Given the description of an element on the screen output the (x, y) to click on. 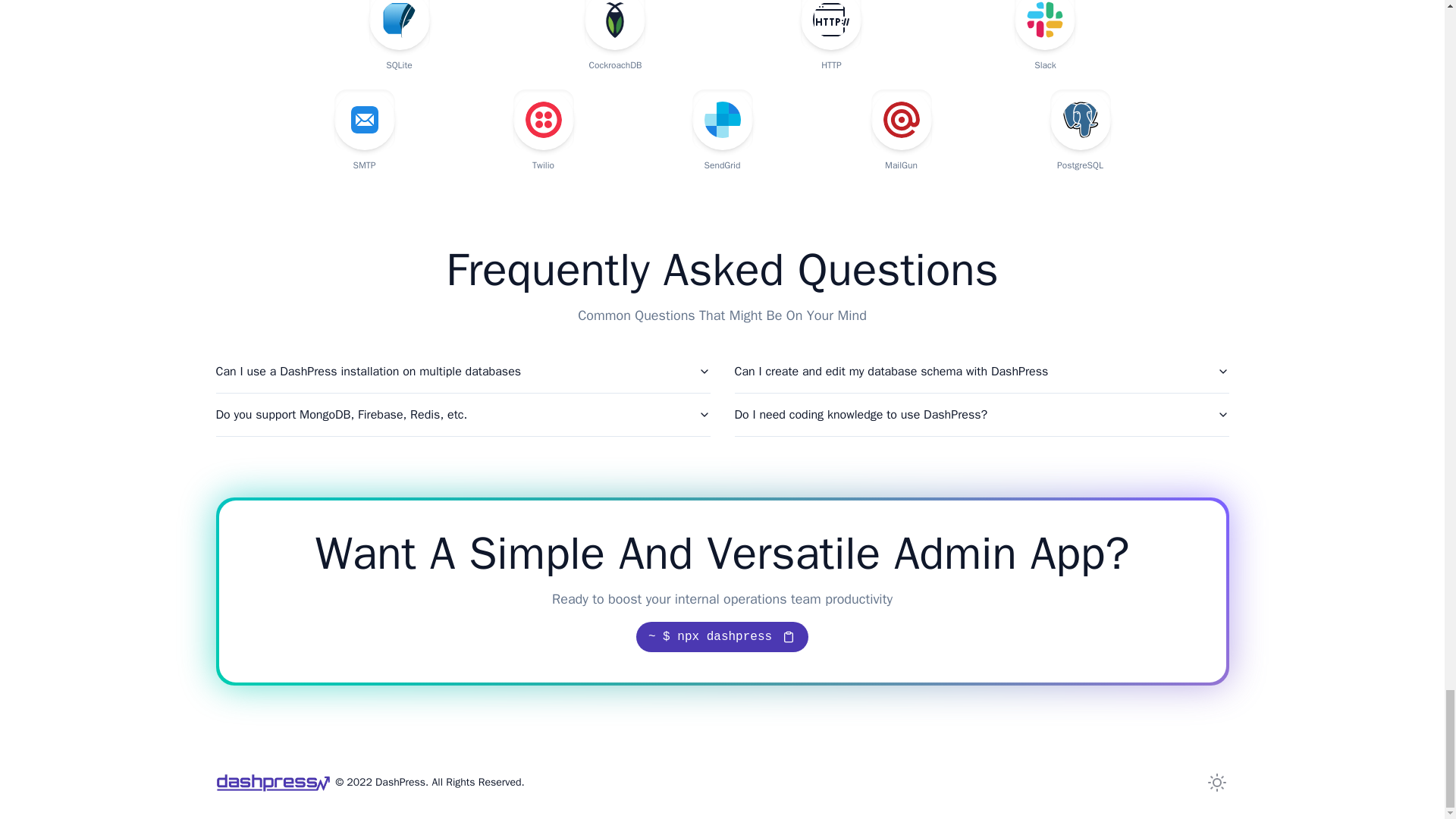
Can I create and edit my database schema with DashPress (980, 371)
Do I need coding knowledge to use DashPress? (980, 414)
Can I use a DashPress installation on multiple databases (462, 371)
Do you support MongoDB, Firebase, Redis, etc. (462, 414)
Toggle theme (1216, 782)
